Given the description of an element on the screen output the (x, y) to click on. 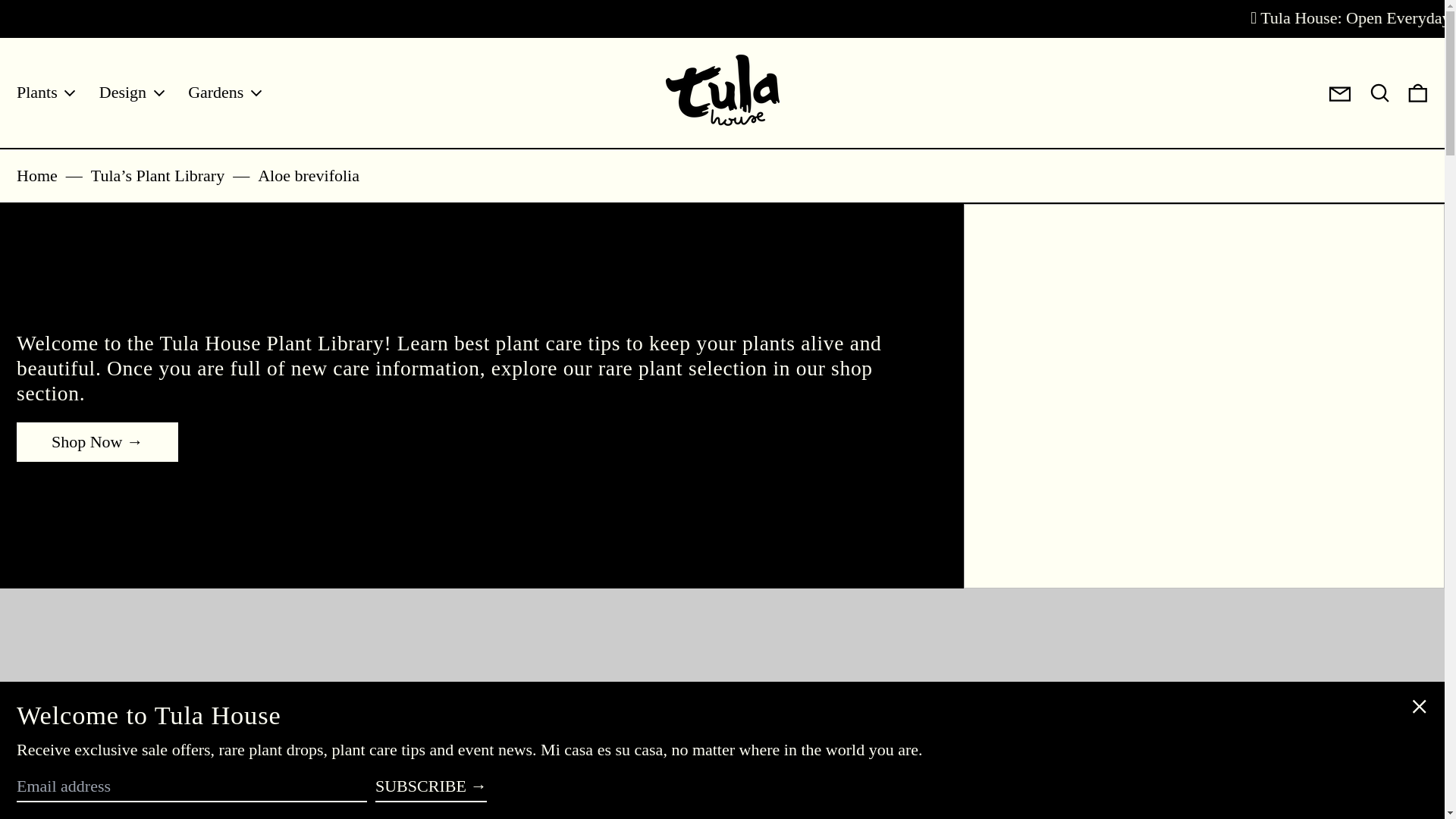
Home (37, 176)
